Given the description of an element on the screen output the (x, y) to click on. 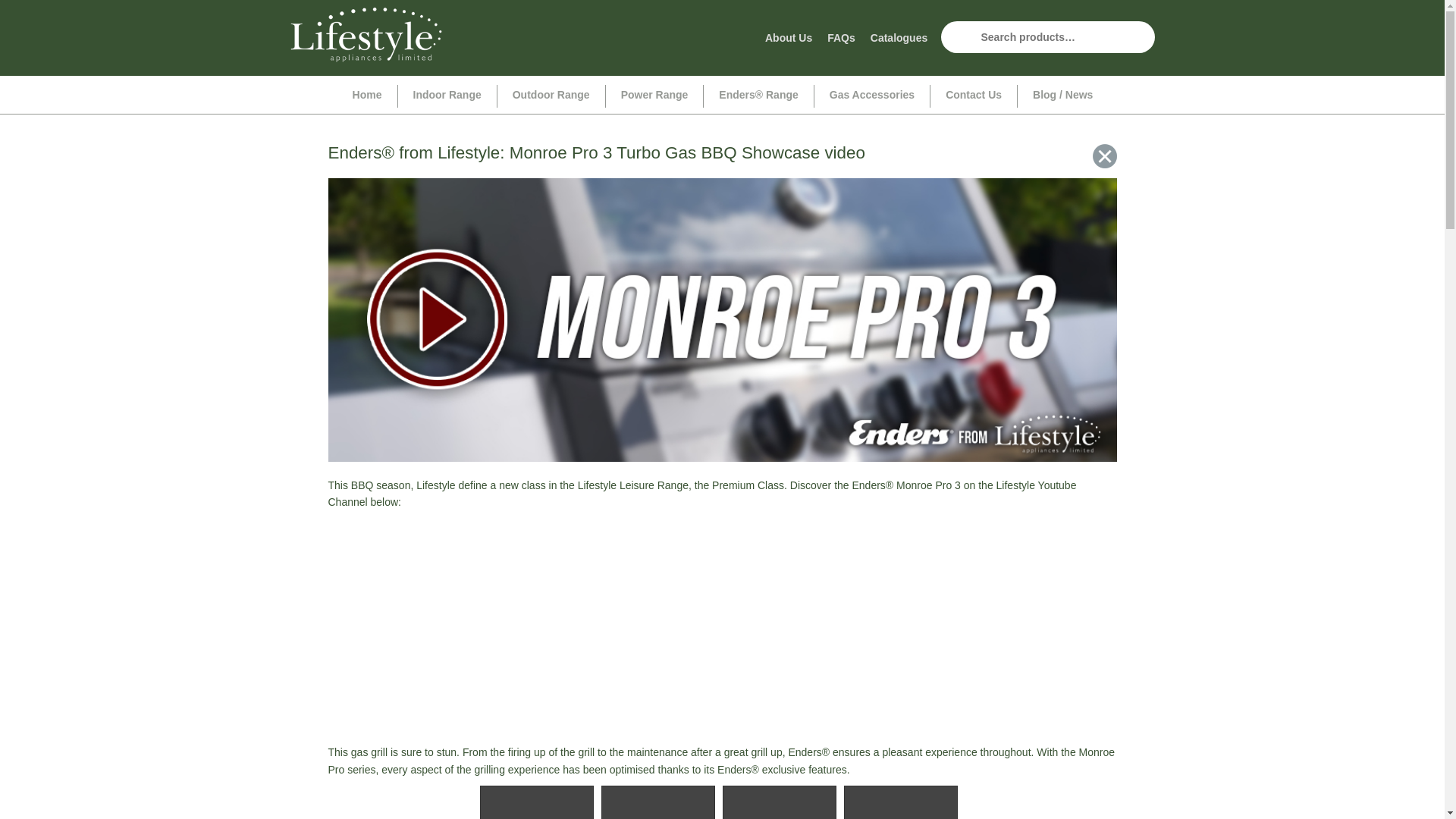
About Us (788, 37)
FAQs (841, 37)
Catalogues (898, 37)
Lifestyle Appliances Blog (1104, 156)
Lifestyle Appliances UK (365, 35)
Search (956, 37)
